Given the description of an element on the screen output the (x, y) to click on. 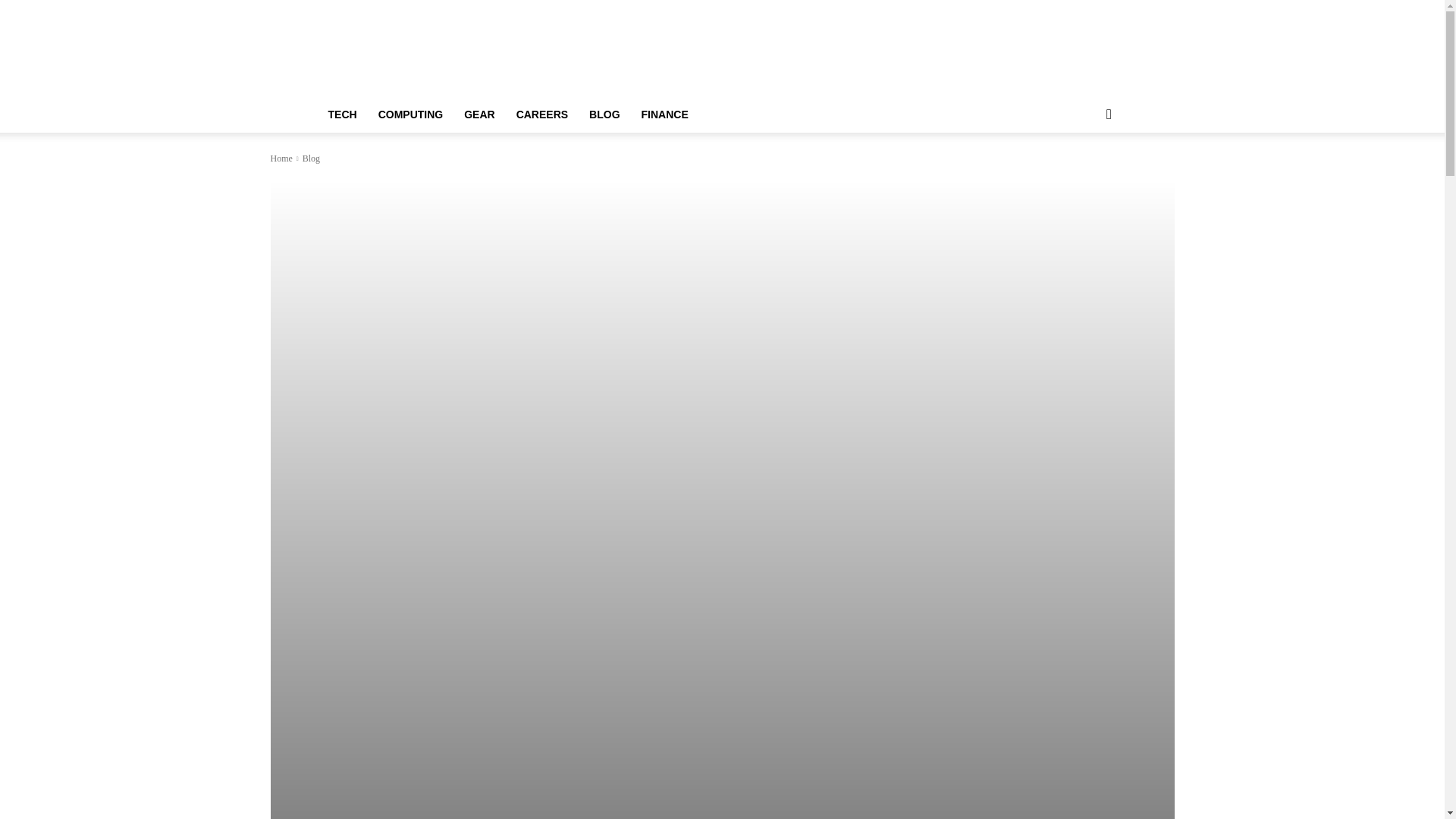
View all posts in Blog (311, 158)
TECH (341, 114)
